Given the description of an element on the screen output the (x, y) to click on. 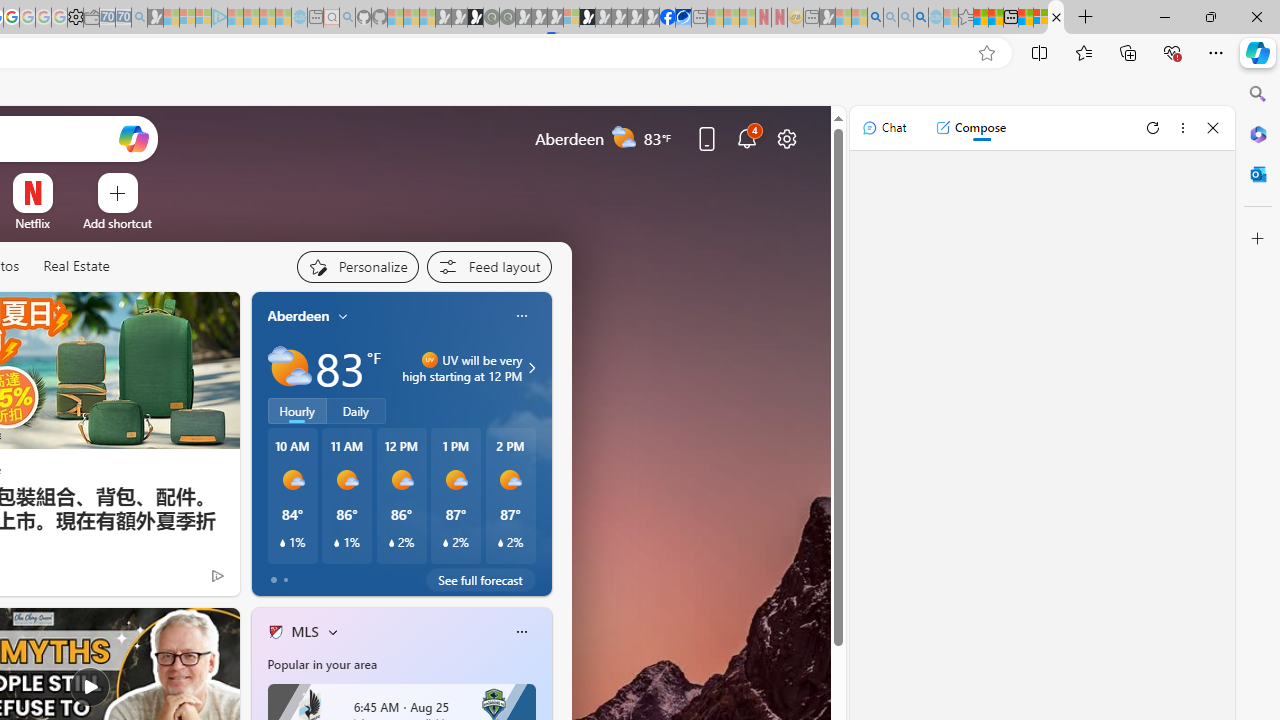
Page settings (786, 138)
Bing Real Estate - Home sales and rental listings - Sleeping (139, 17)
Nordace | Facebook (667, 17)
Hourly (296, 411)
AQI & Health | AirNow.gov (683, 17)
Partly sunny (289, 368)
